Given the description of an element on the screen output the (x, y) to click on. 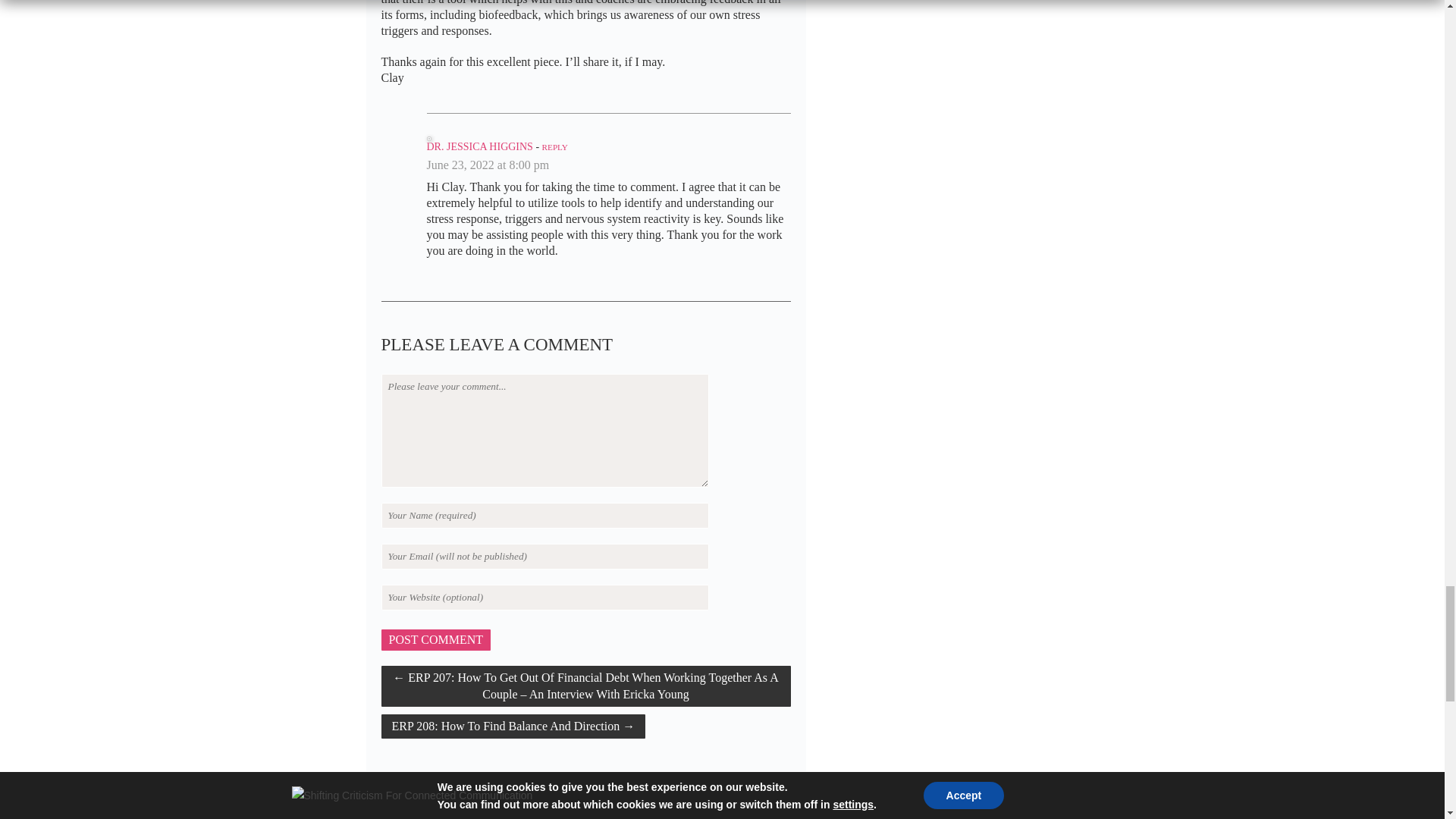
DR. JESSICA HIGGINS (479, 146)
REPLY (554, 146)
Post Comment (435, 639)
